Given the description of an element on the screen output the (x, y) to click on. 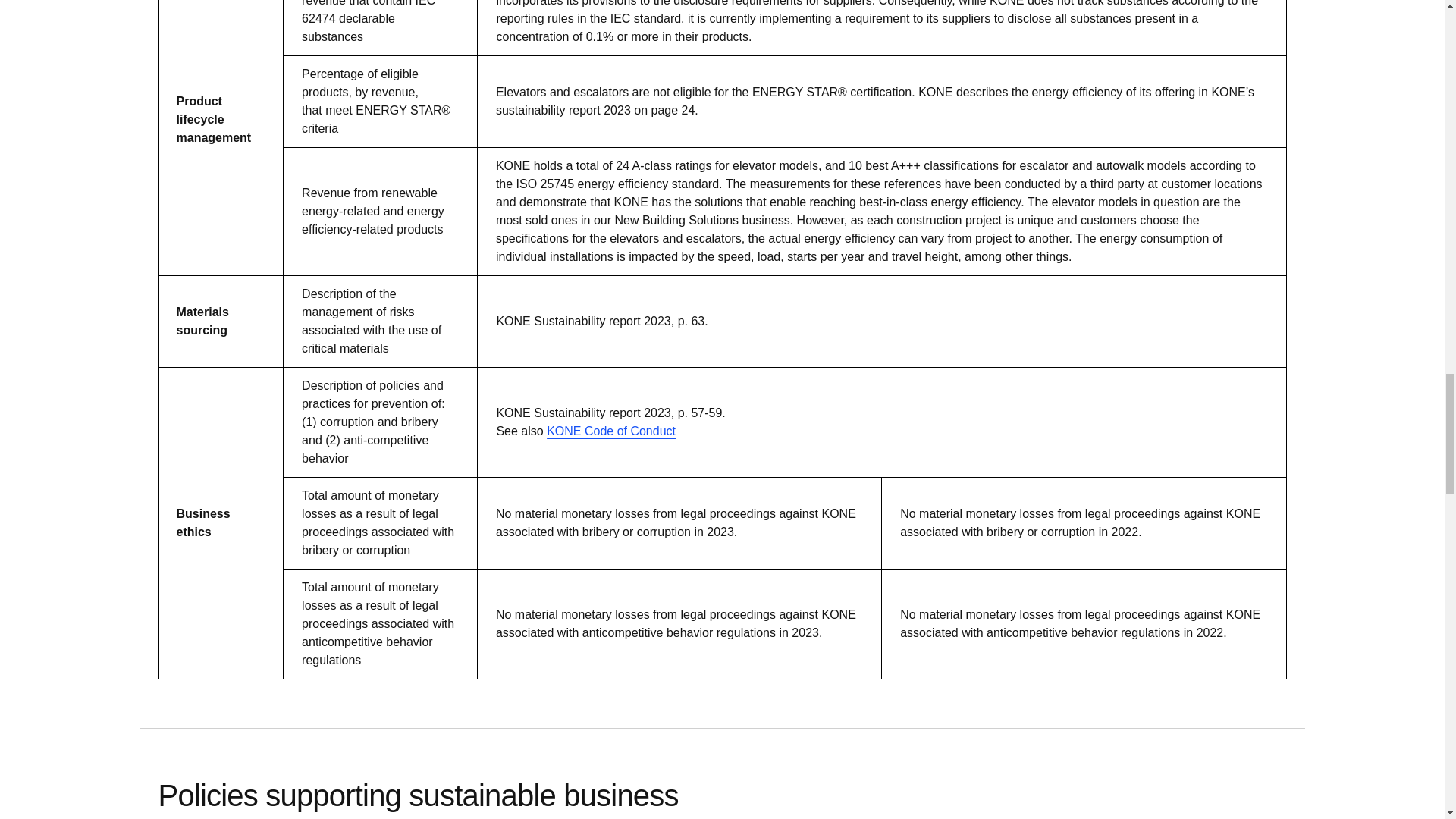
Code of conduct (611, 431)
